Given the description of an element on the screen output the (x, y) to click on. 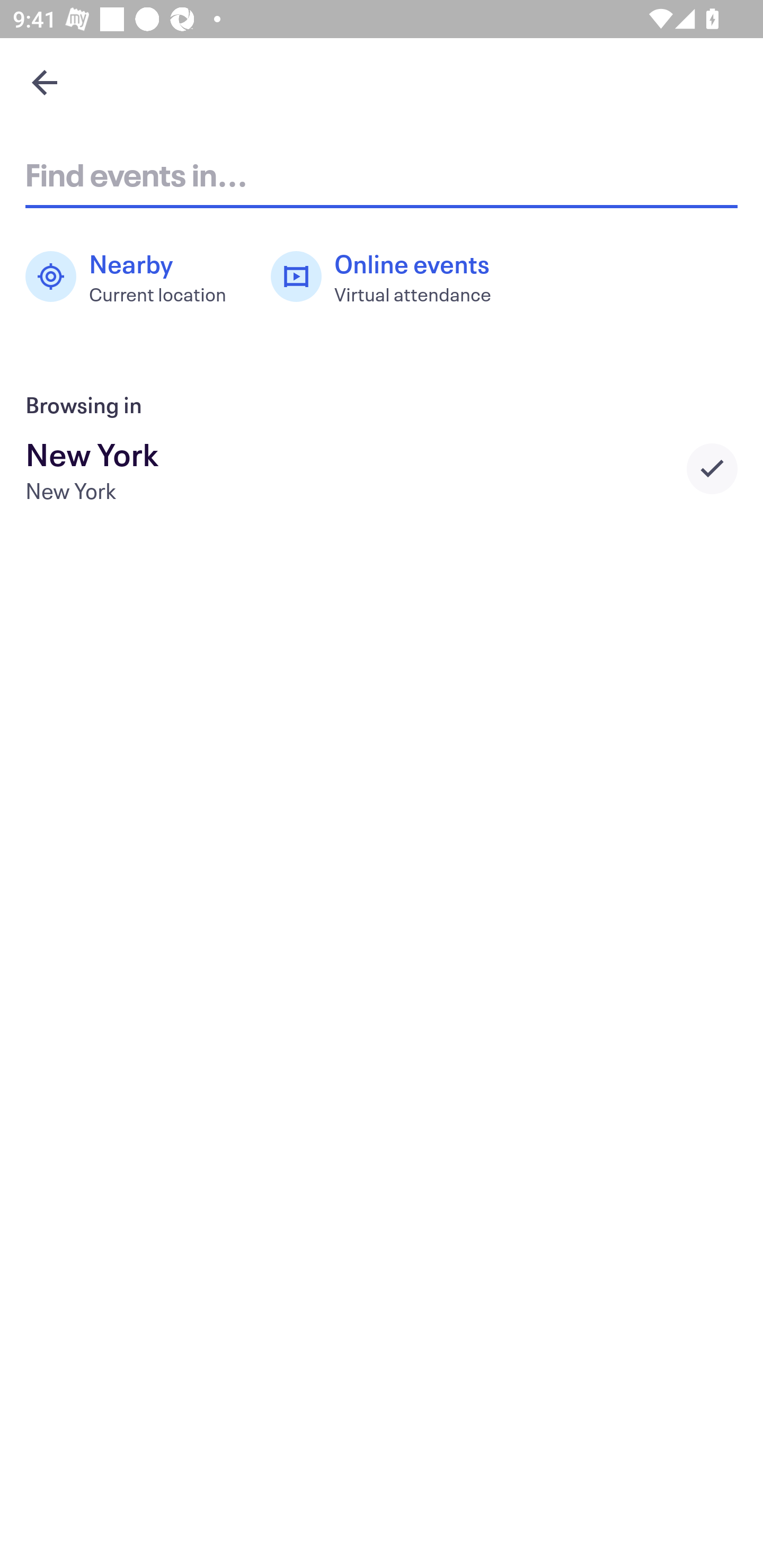
Navigate up (44, 82)
Find events in... (381, 173)
Nearby Current location (135, 276)
Online events Virtual attendance (390, 276)
New York New York Selected city (381, 468)
